Given the description of an element on the screen output the (x, y) to click on. 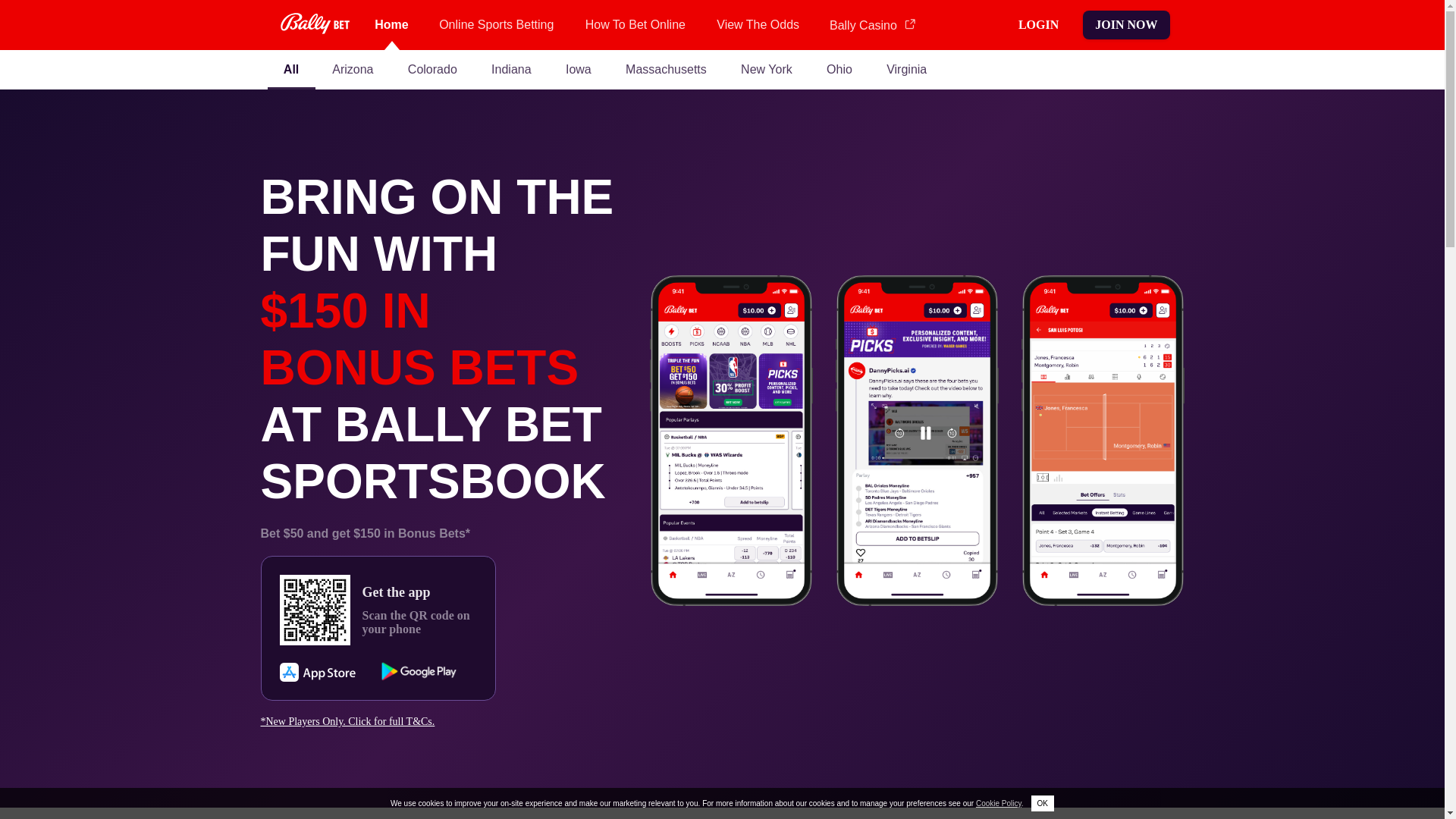
Virginia (906, 69)
Login (1038, 24)
Virginia- (906, 69)
Ohio- (839, 69)
View The Odds (758, 24)
Online Sports Betting- (496, 24)
How to Bet Online- (635, 24)
JOIN NOW (1126, 24)
Online Sports Betting (496, 24)
Arizona (353, 69)
New York- (766, 69)
Massachusetts- (665, 69)
Iowa (578, 69)
New York (766, 69)
Home (391, 24)
